Given the description of an element on the screen output the (x, y) to click on. 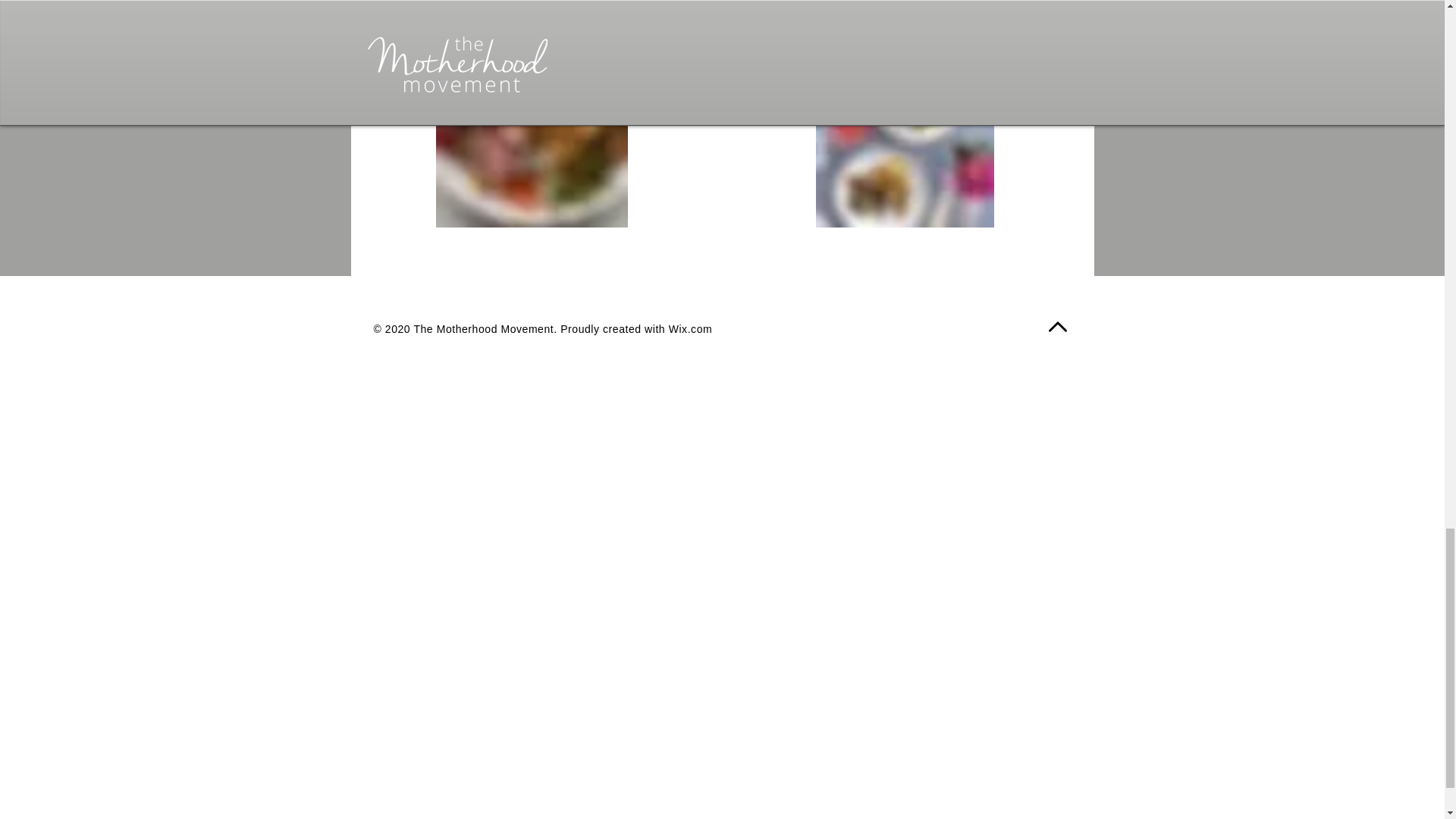
Wix.com (690, 328)
